Given the description of an element on the screen output the (x, y) to click on. 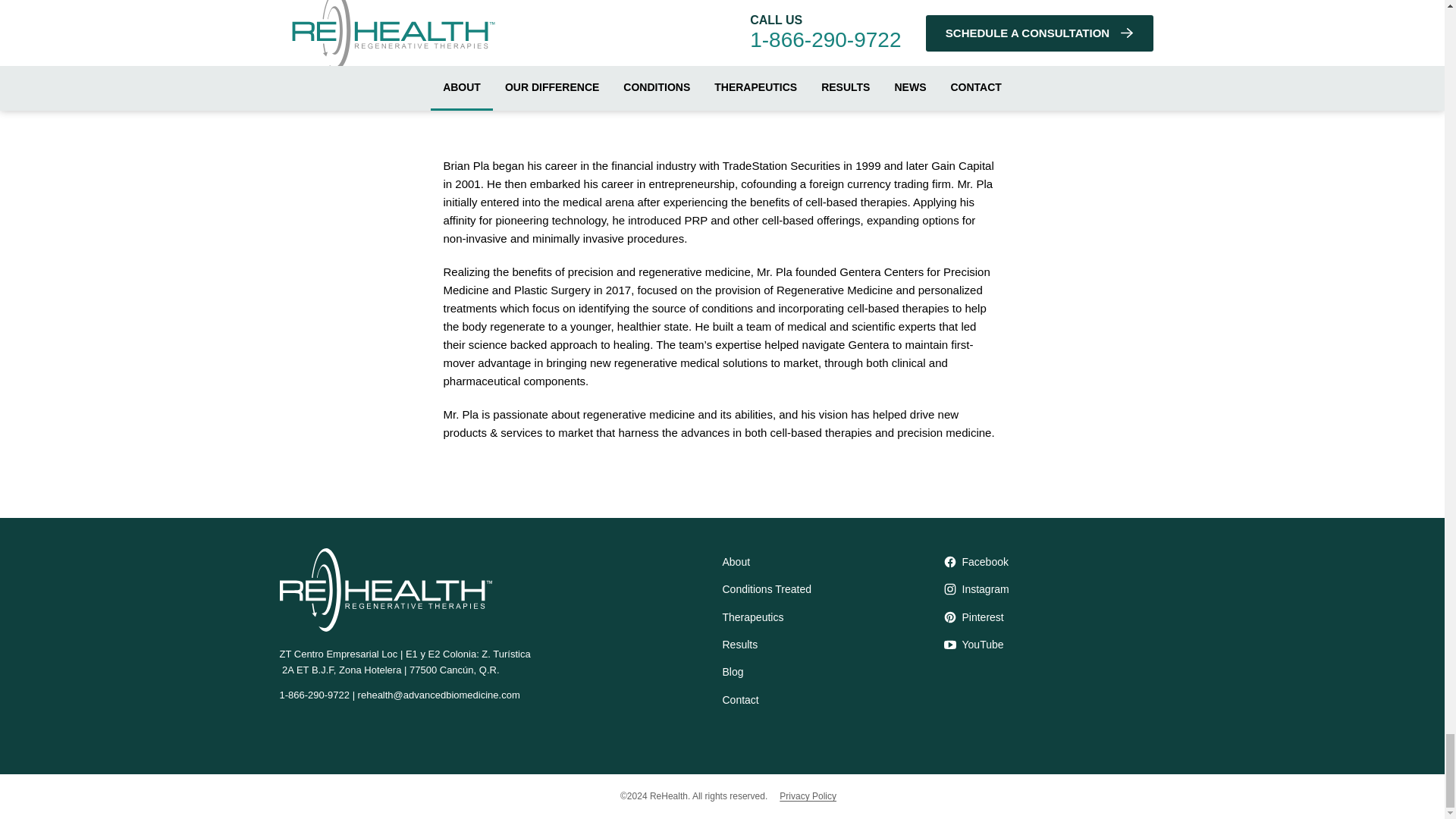
Instagram (1053, 588)
Results (832, 644)
Facebook (1053, 561)
Conditions Treated (832, 588)
About (832, 561)
Therapeutics (832, 616)
Contact (832, 699)
Blog (832, 671)
Pinterest (1053, 616)
